Given the description of an element on the screen output the (x, y) to click on. 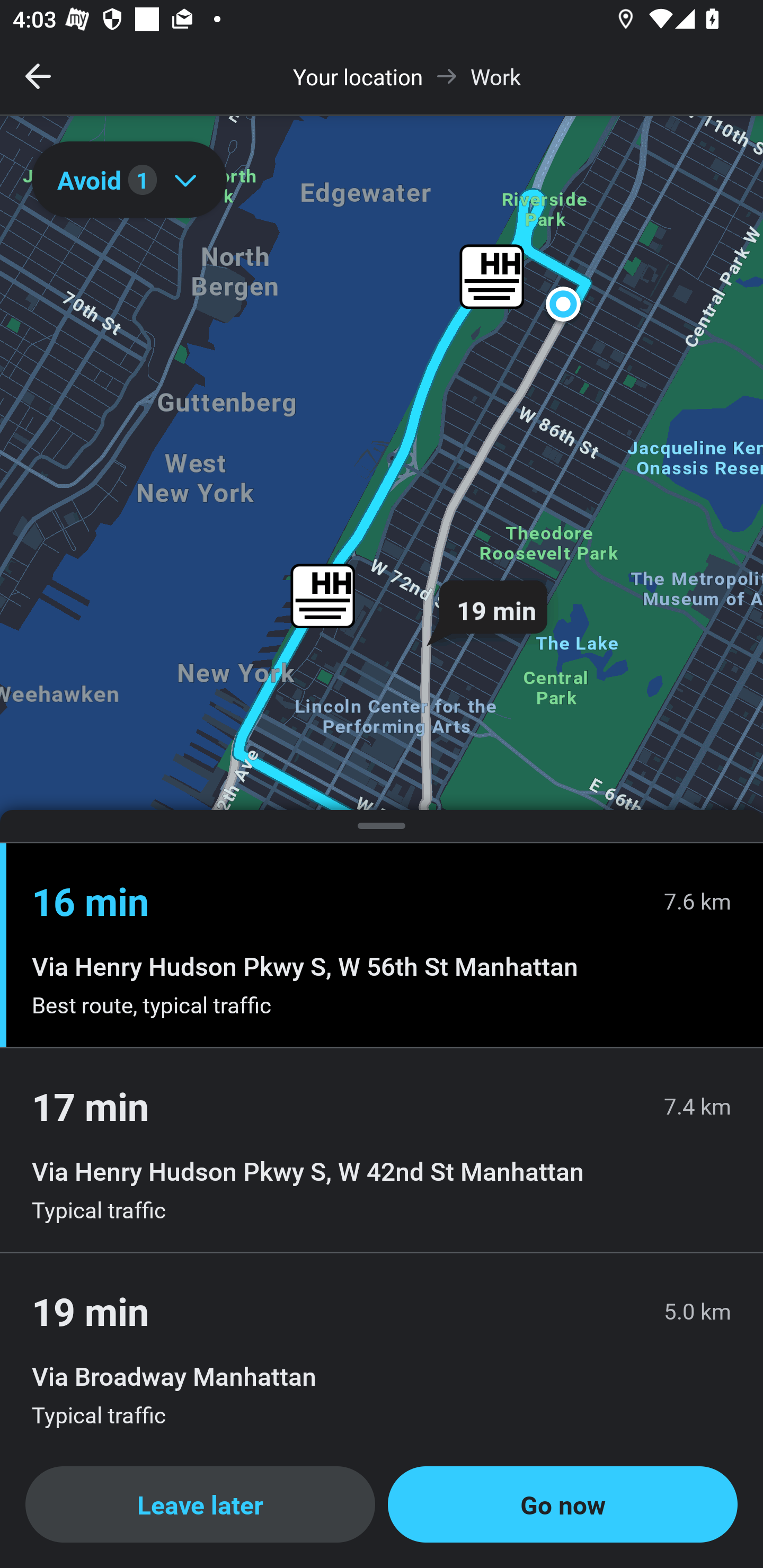
Leave later (200, 1504)
Go now (562, 1504)
